Given the description of an element on the screen output the (x, y) to click on. 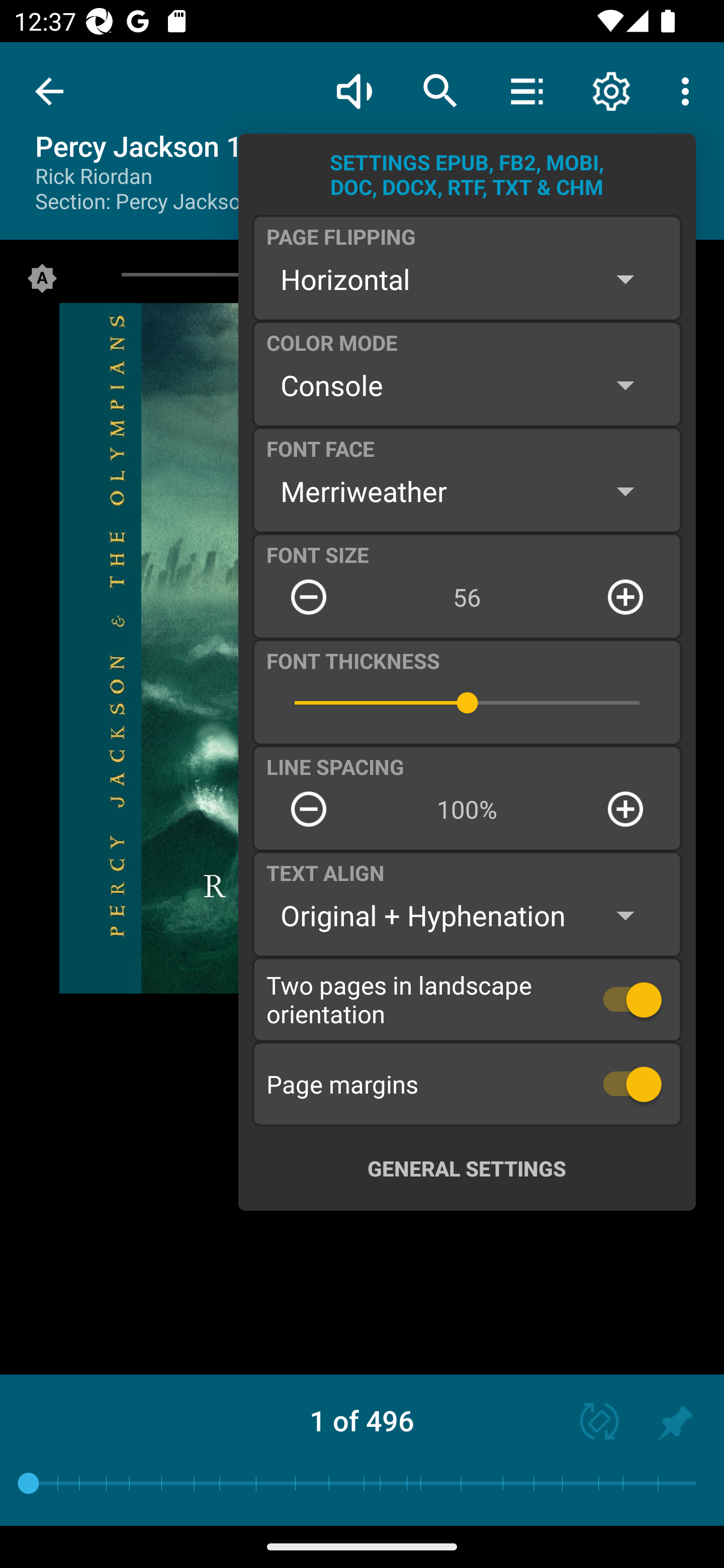
Horizontal (466, 278)
Console (466, 384)
Merriweather (466, 490)
Original + Hyphenation (466, 915)
Two pages in landscape orientation (467, 999)
Page margins (467, 1083)
GENERAL SETTINGS (466, 1167)
